Given the description of an element on the screen output the (x, y) to click on. 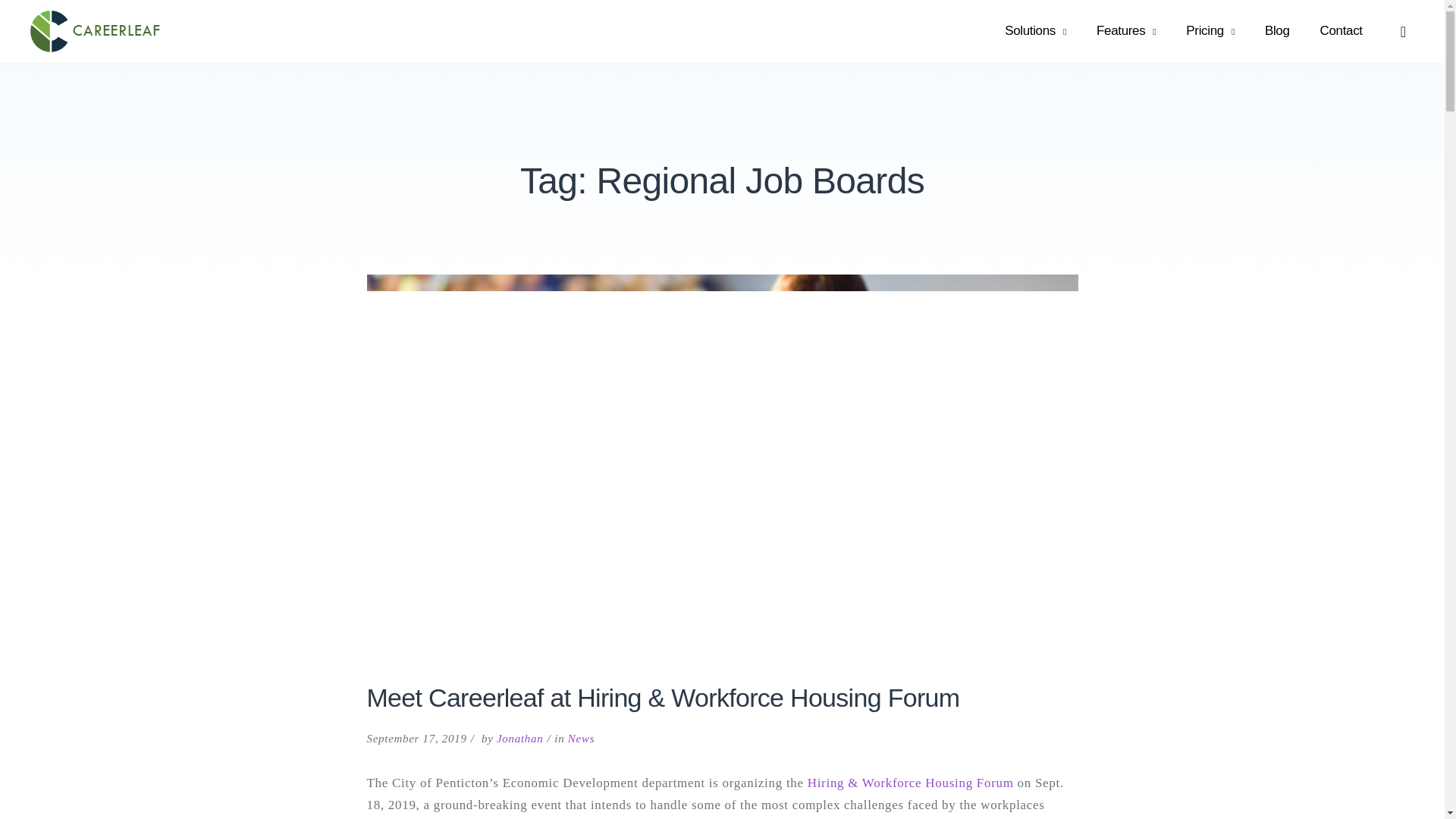
Contact (1340, 30)
Features (1125, 30)
News (580, 738)
Jonathan (519, 738)
Solutions (1035, 30)
Blog (1276, 30)
Pricing (1209, 30)
Careerleaf Job Board Software (181, 30)
